Given the description of an element on the screen output the (x, y) to click on. 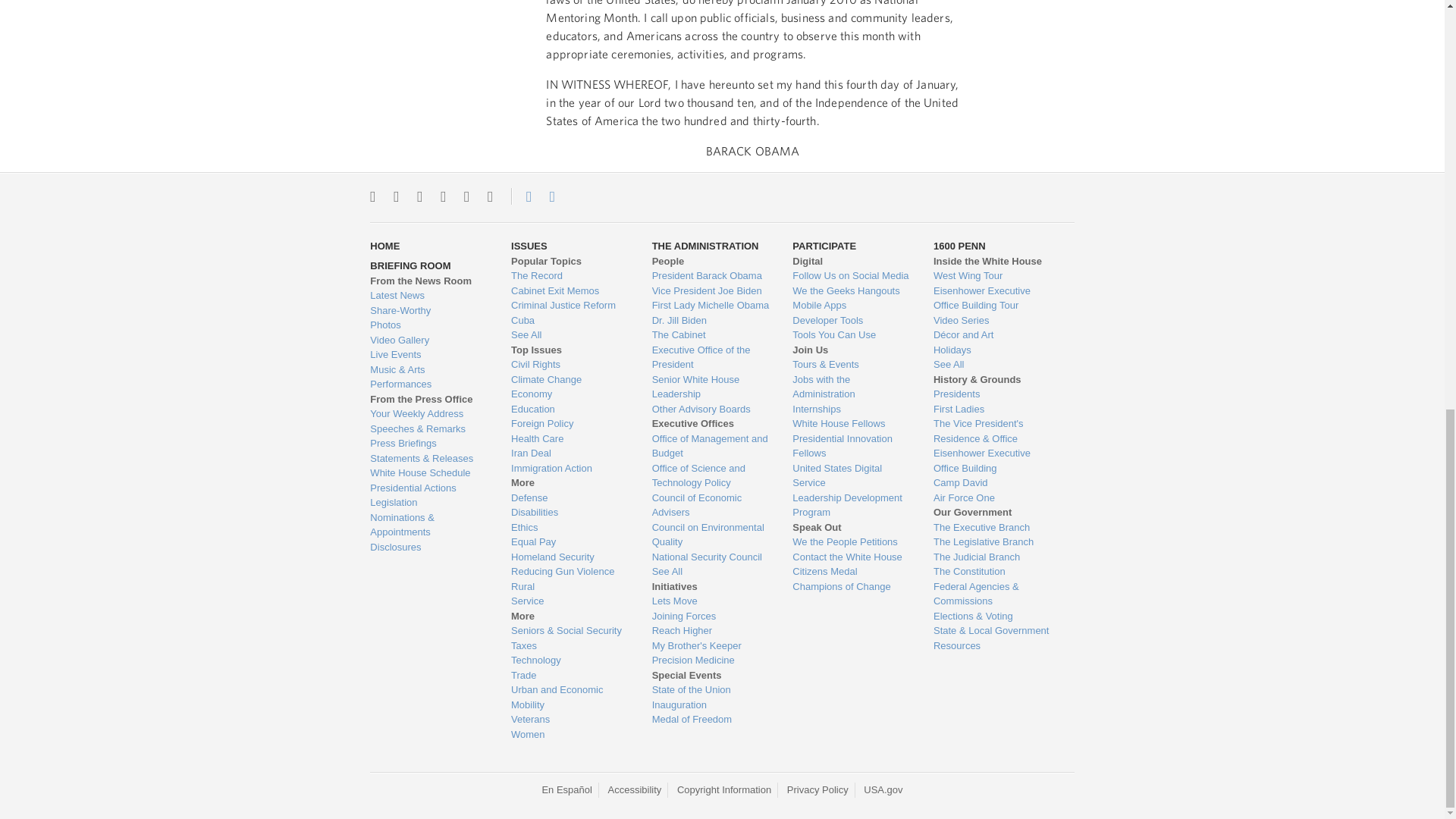
Read the latest blog posts from 1600 Pennsylvania Ave (428, 295)
Watch behind-the-scenes videos and more (428, 340)
Check out the most popular infographics and videos (428, 310)
Contact the Whitehouse. (521, 196)
View the photo of the day and other galleries (428, 324)
